Given the description of an element on the screen output the (x, y) to click on. 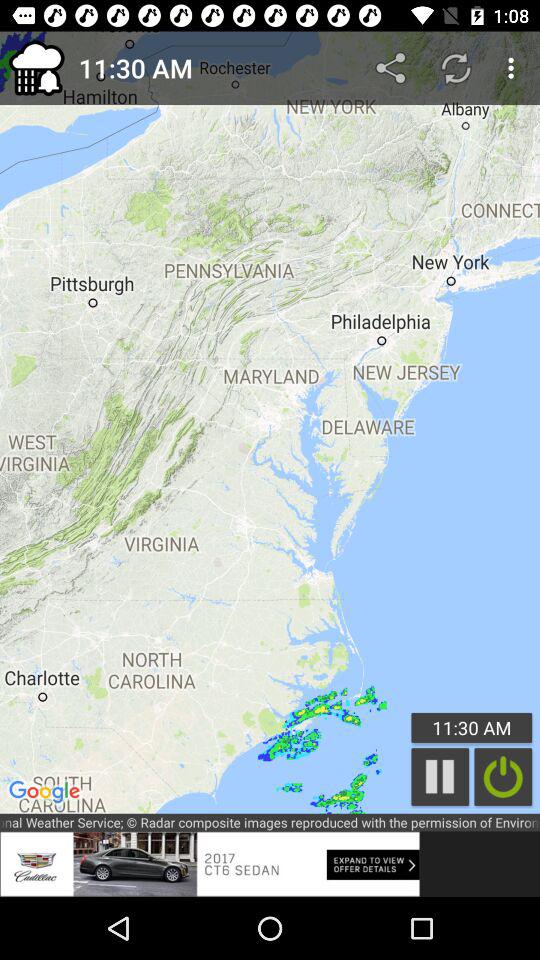
turn live monitoring off (503, 776)
